Given the description of an element on the screen output the (x, y) to click on. 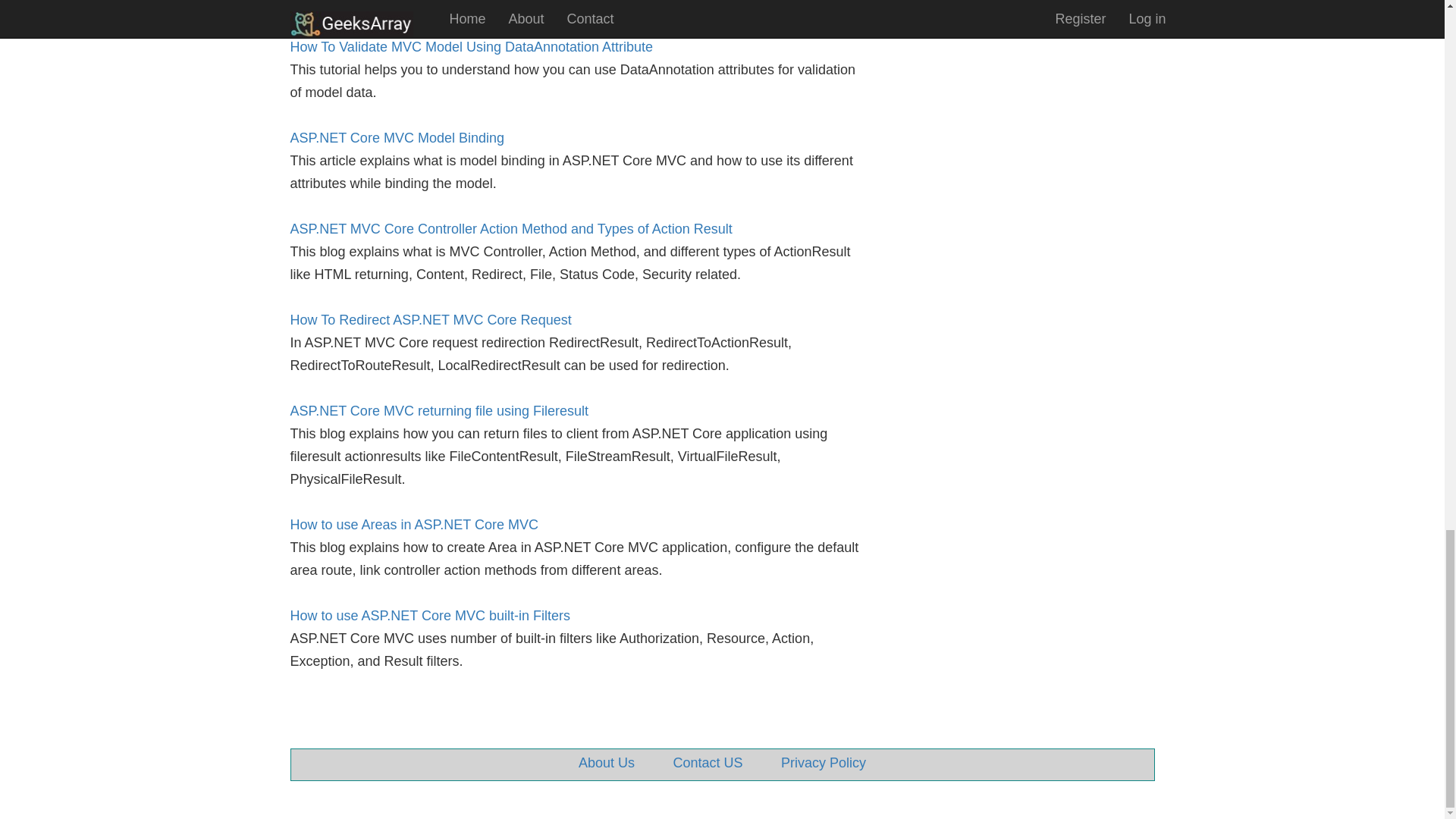
About Us (606, 762)
How to use Areas in ASP.NET Core MVC (413, 524)
Contact US (708, 762)
How To Validate MVC Model Using DataAnnotation Attribute (470, 46)
How to use ASP.NET Core MVC built-in Filters (429, 615)
Privacy Policy (822, 762)
How To Redirect ASP.NET MVC Core Request (429, 319)
ASP.NET Core MVC Model Binding (396, 137)
ASP.NET Core MVC returning file using Fileresult (438, 410)
